Given the description of an element on the screen output the (x, y) to click on. 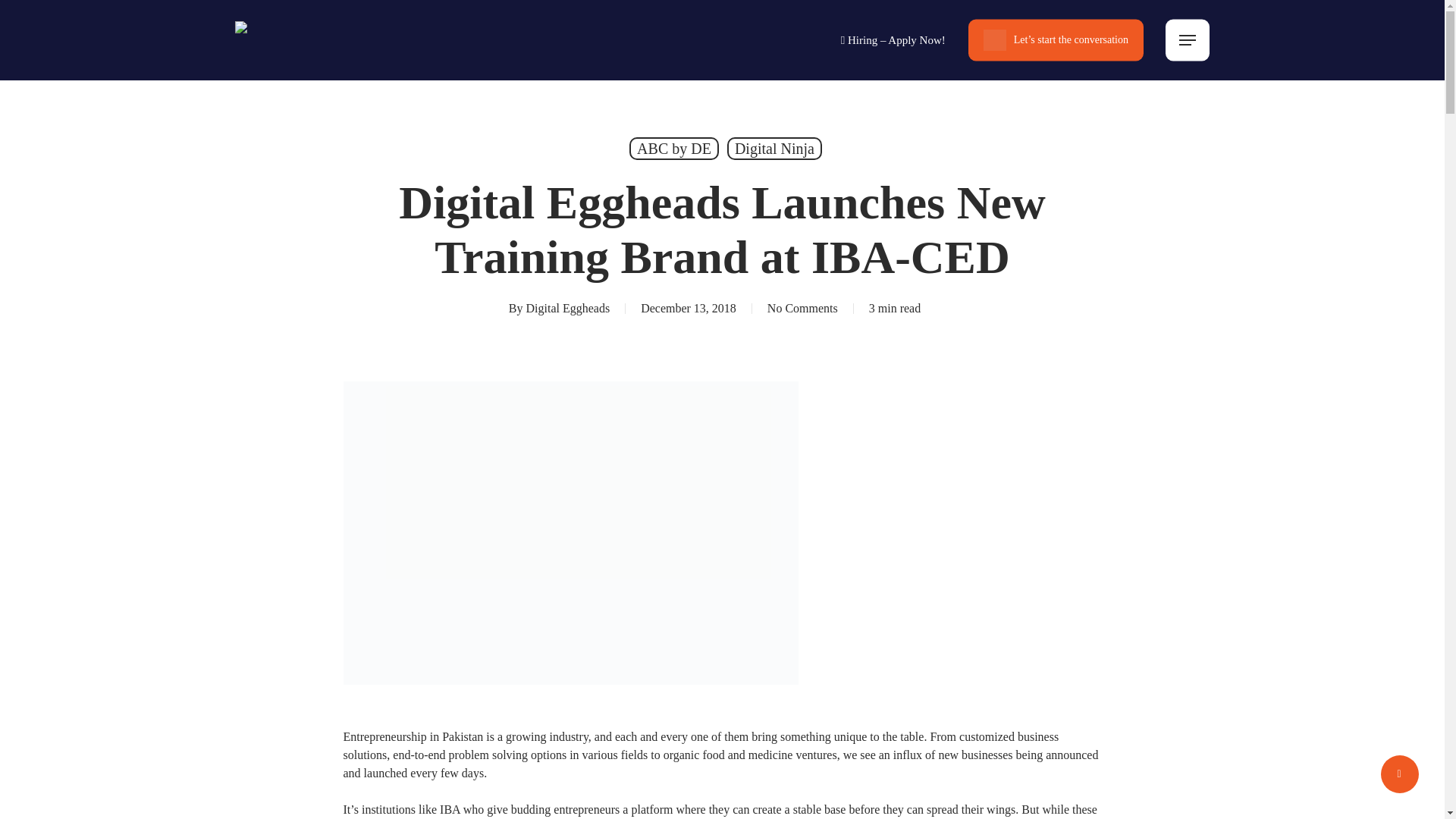
No Comments (802, 308)
Posts by Digital Eggheads (567, 308)
Menu (1187, 39)
Digital Ninja (774, 148)
ABC by DE (673, 148)
Digital Eggheads (567, 308)
